Given the description of an element on the screen output the (x, y) to click on. 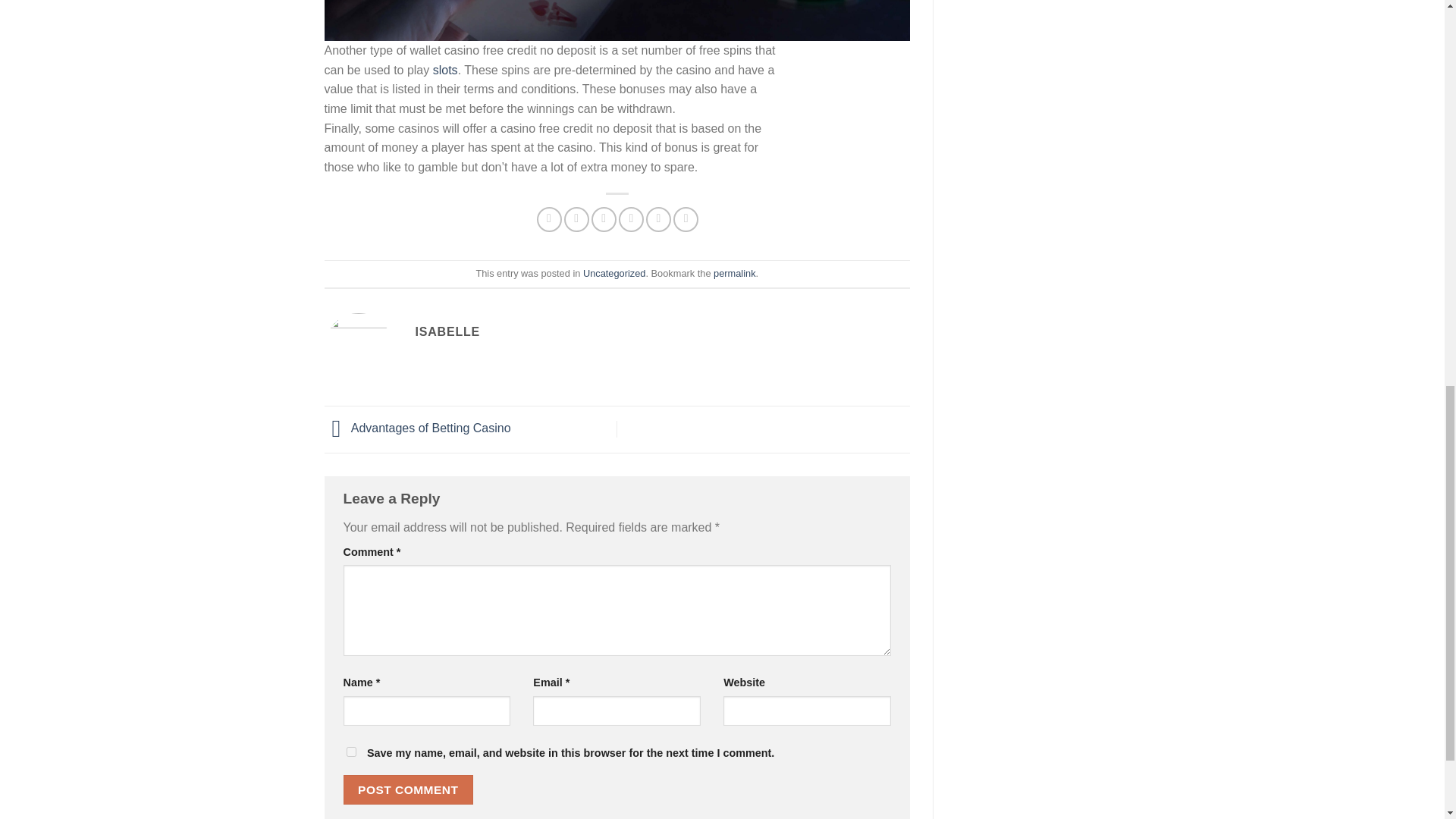
permalink (734, 273)
slots (445, 69)
Post Comment (407, 789)
Uncategorized (614, 273)
Advantages of Betting Casino (417, 427)
Post Comment (407, 789)
Permalink to Wallet Casino Free Credit No Deposit (734, 273)
yes (350, 751)
